Given the description of an element on the screen output the (x, y) to click on. 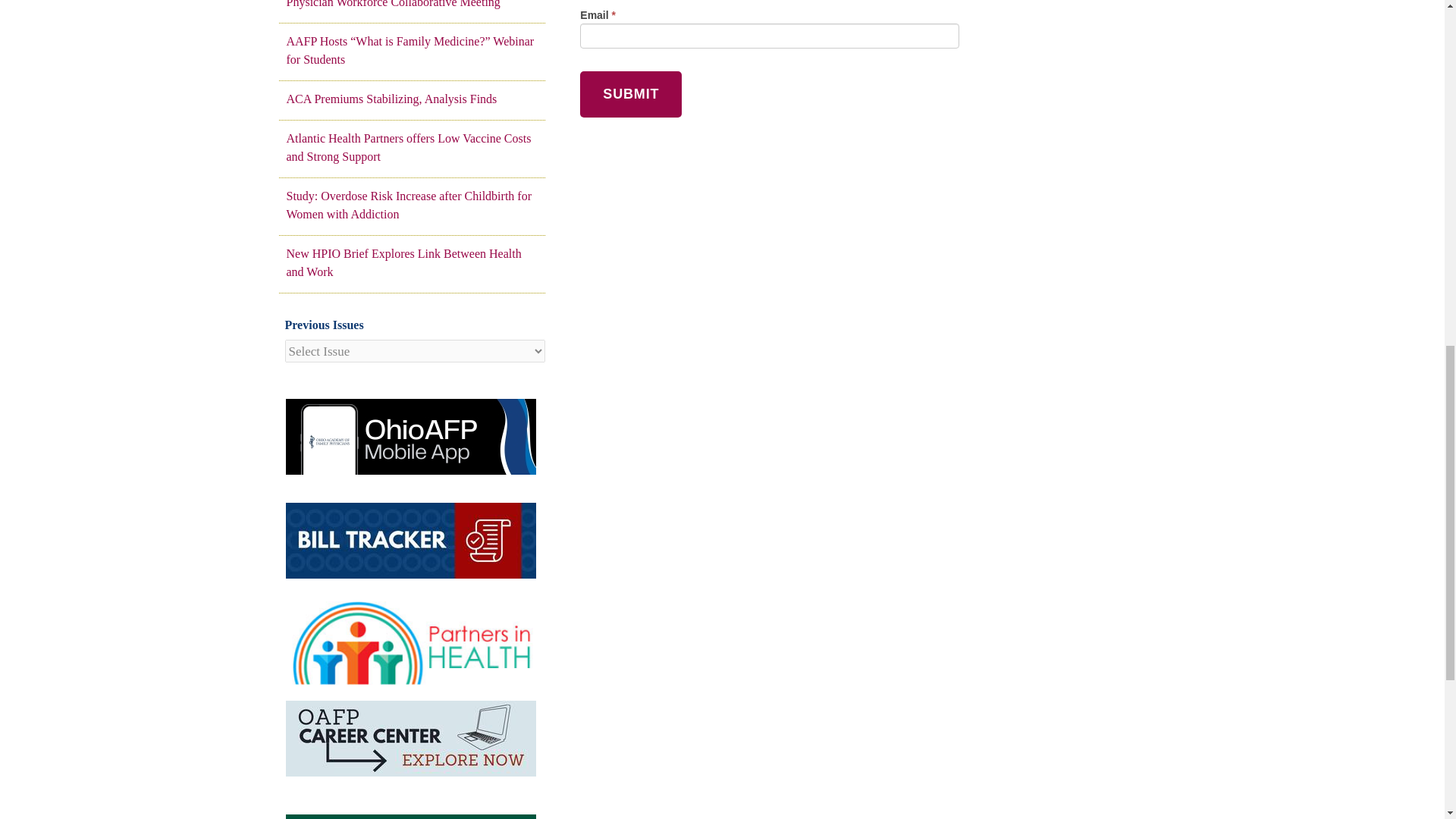
New HPIO Brief Explores Link Between Health and Work (411, 262)
ACA Premiums Stabilizing, Analysis Finds (411, 99)
